Given the description of an element on the screen output the (x, y) to click on. 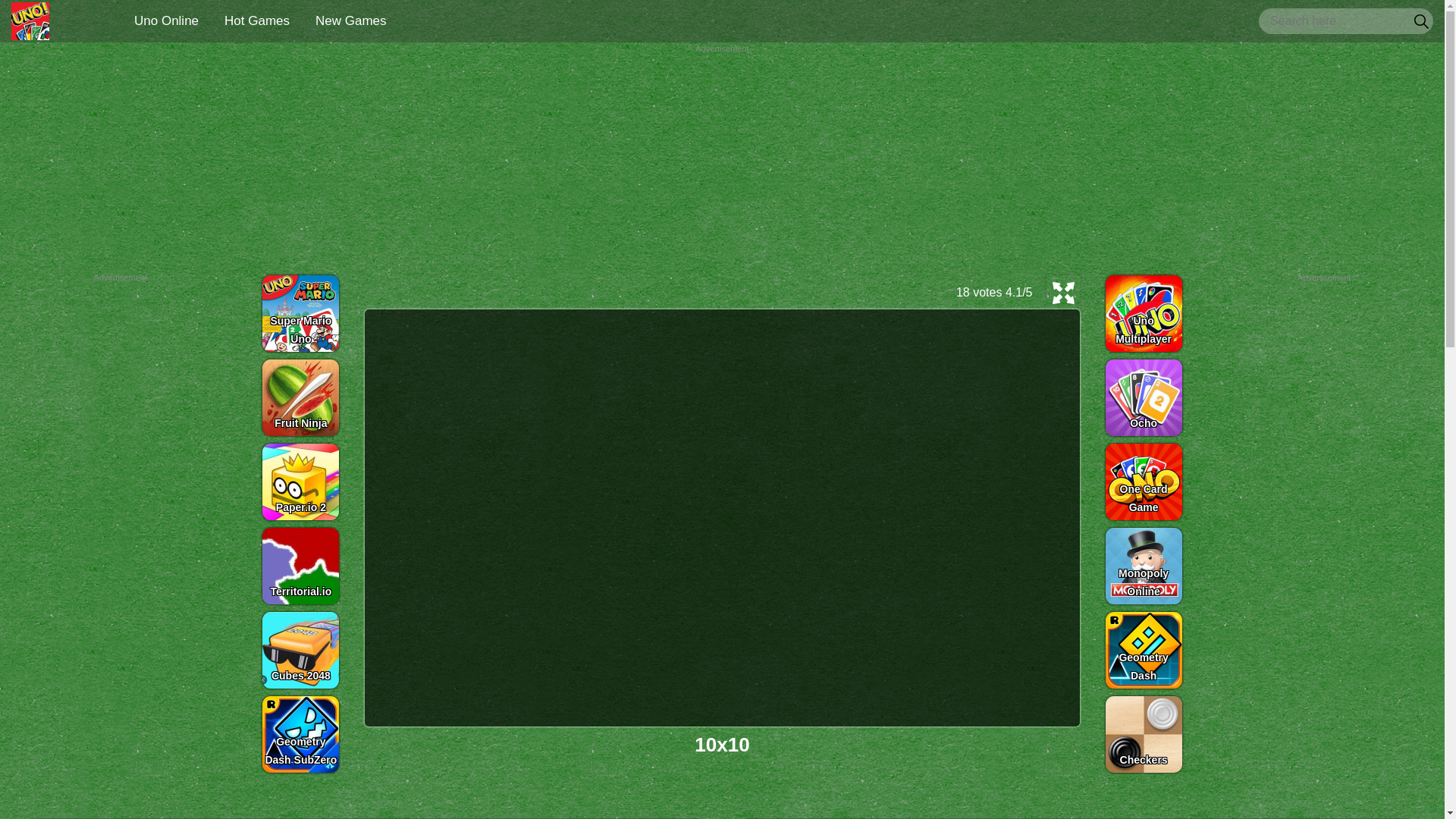
Ocho (1144, 397)
Super Mario Uno (300, 312)
Uno Online (30, 21)
Uno Online (166, 20)
Monopoly Online (1144, 565)
Geometry Dash (1144, 648)
Fruit Ninja (300, 397)
Super Mario Uno (300, 312)
Territorial.io (300, 565)
Territorial.io (300, 565)
